Given the description of an element on the screen output the (x, y) to click on. 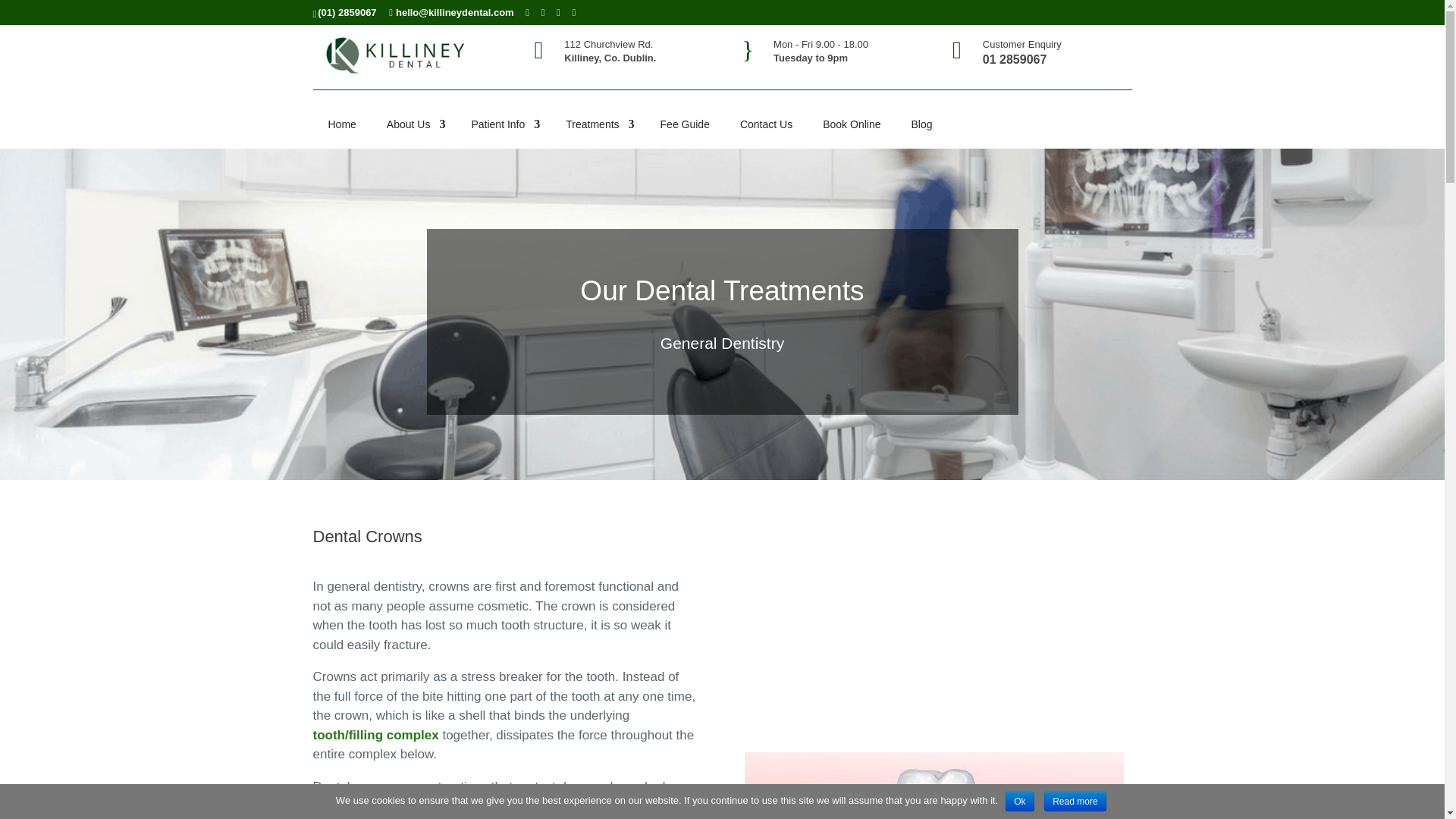
General dentistry Dublin (934, 785)
Dental Crown (937, 620)
